Given the description of an element on the screen output the (x, y) to click on. 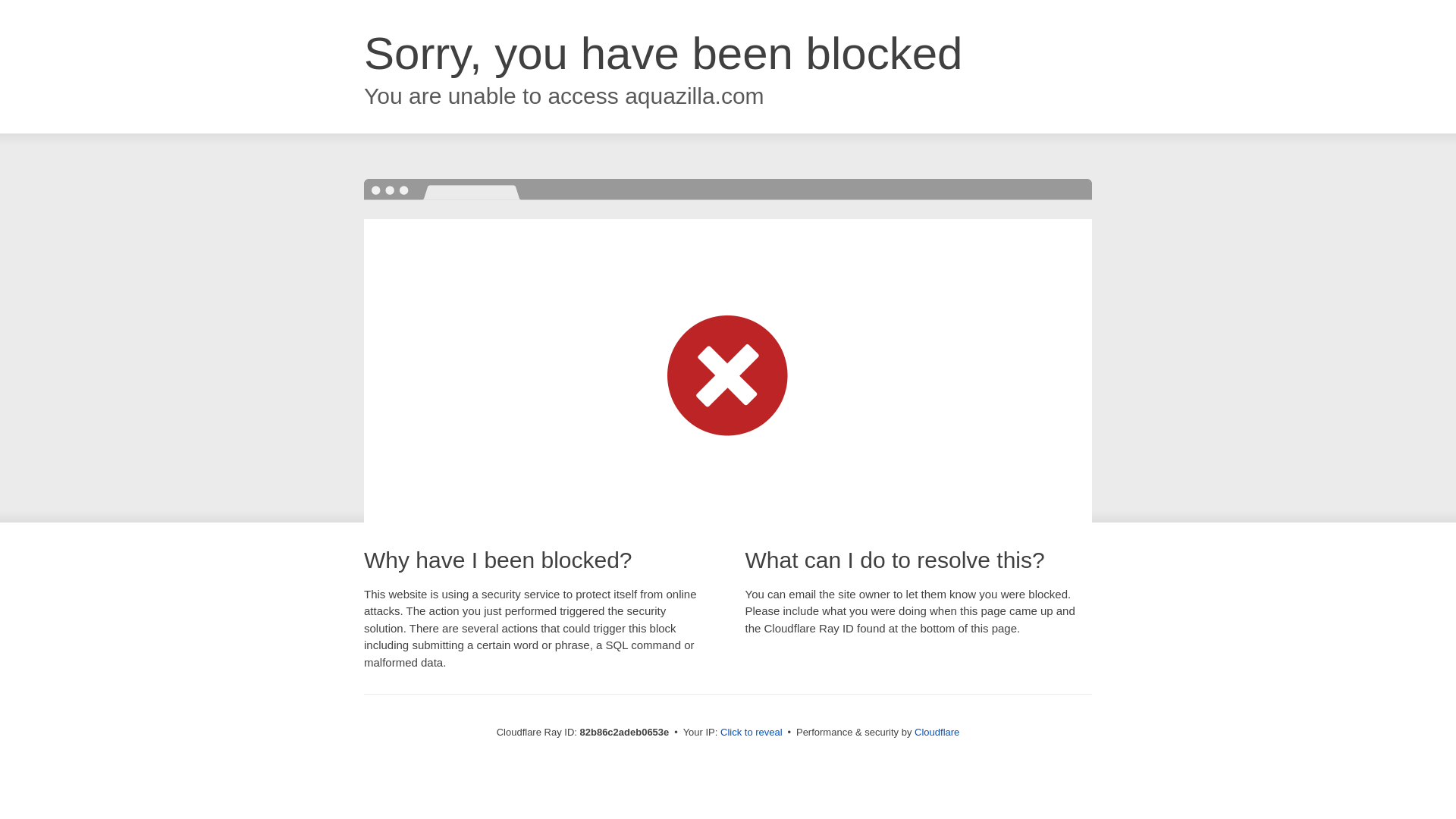
Cloudflare Element type: text (936, 731)
Click to reveal Element type: text (751, 732)
